Given the description of an element on the screen output the (x, y) to click on. 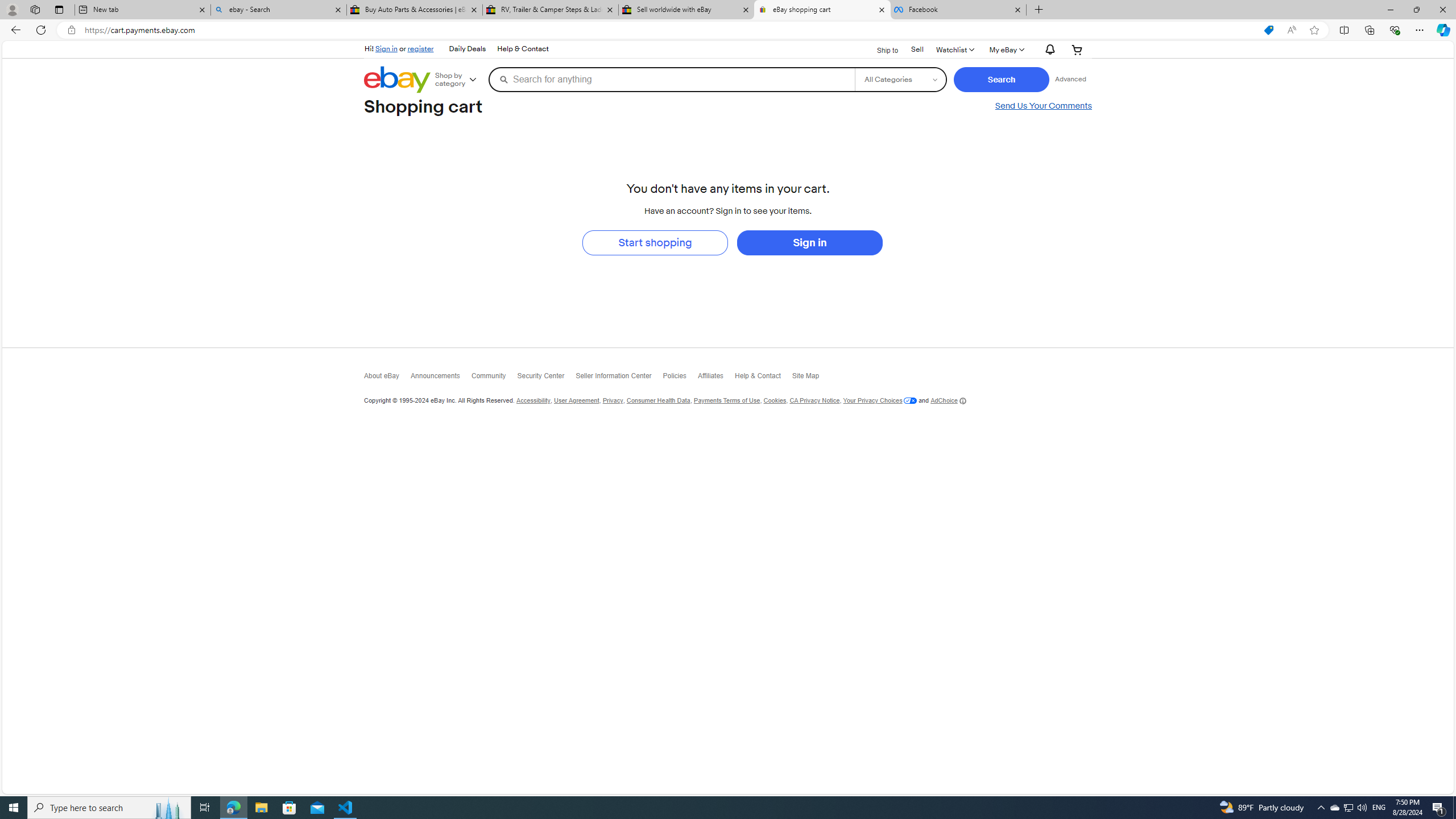
Ship to (880, 50)
Policies (679, 377)
CA Privacy Notice (814, 400)
Start shopping (655, 242)
Search for anything (671, 78)
Your shopping cart is empty (1077, 49)
Affiliates (716, 378)
Ship to (880, 48)
